Given the description of an element on the screen output the (x, y) to click on. 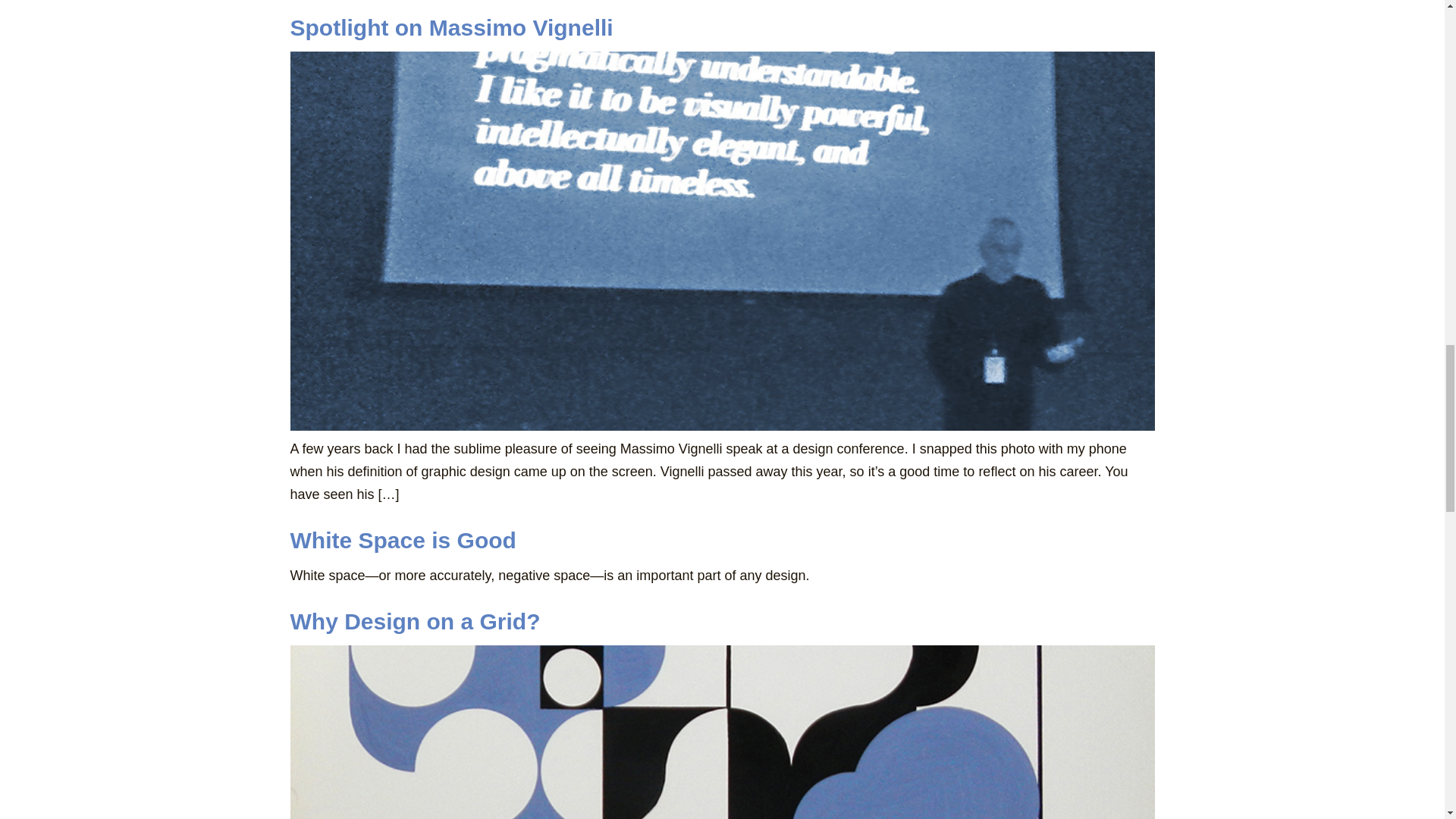
Spotlight on Massimo Vignelli (450, 27)
White Space is Good (402, 539)
Why Design on a Grid? (414, 621)
